Given the description of an element on the screen output the (x, y) to click on. 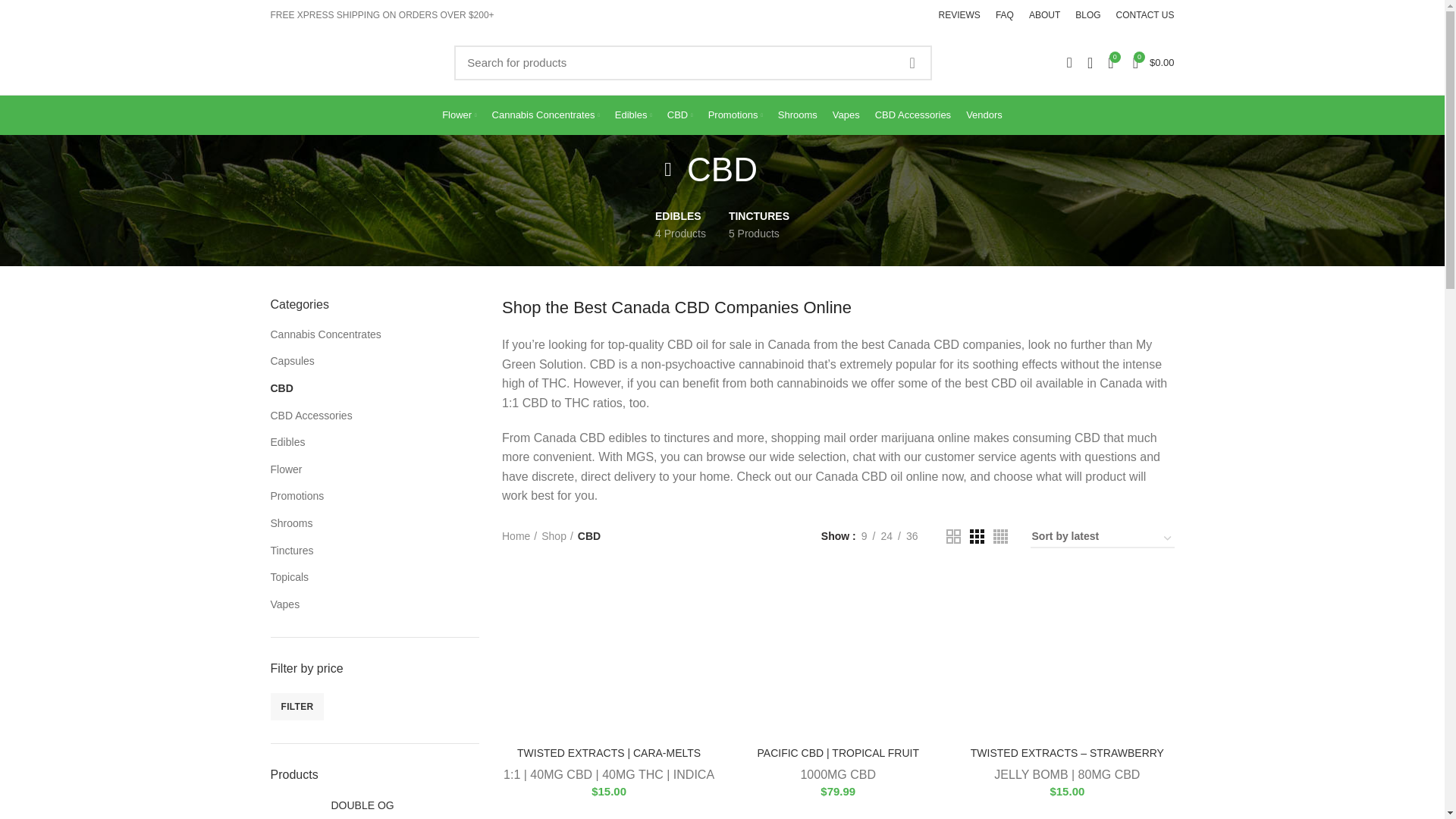
Cannabis Concentrates (545, 114)
Edibles (633, 114)
FAQ (1005, 15)
Search for products (692, 62)
ABOUT (1044, 15)
SEARCH (911, 62)
DOUBLE OG (293, 808)
Shopping cart (1153, 61)
DOUBLE OG (404, 806)
CONTACT US (1145, 15)
BLOG (1087, 15)
REVIEWS (959, 15)
Flower (458, 114)
